Given the description of an element on the screen output the (x, y) to click on. 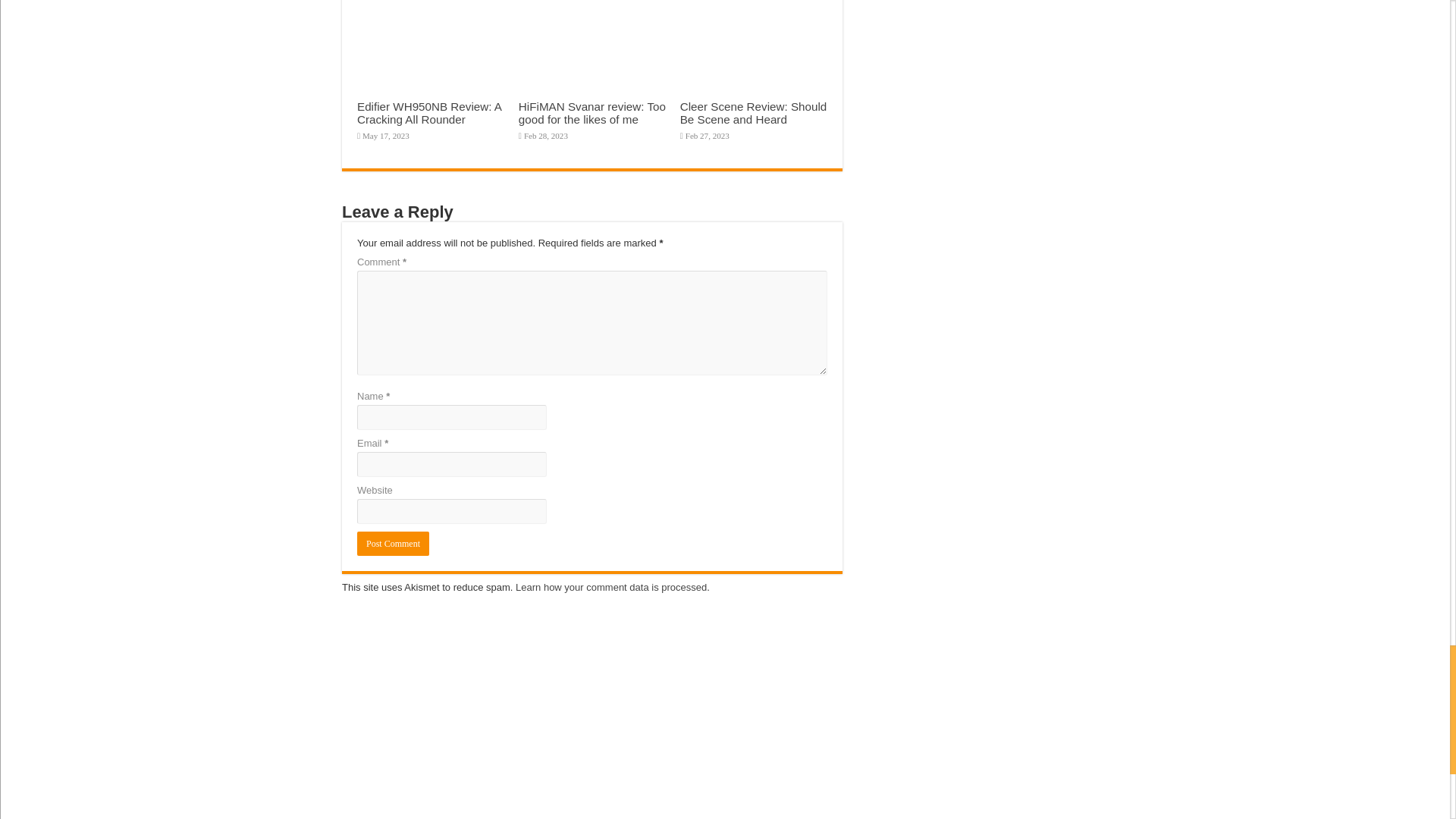
Post Comment (392, 543)
